Given the description of an element on the screen output the (x, y) to click on. 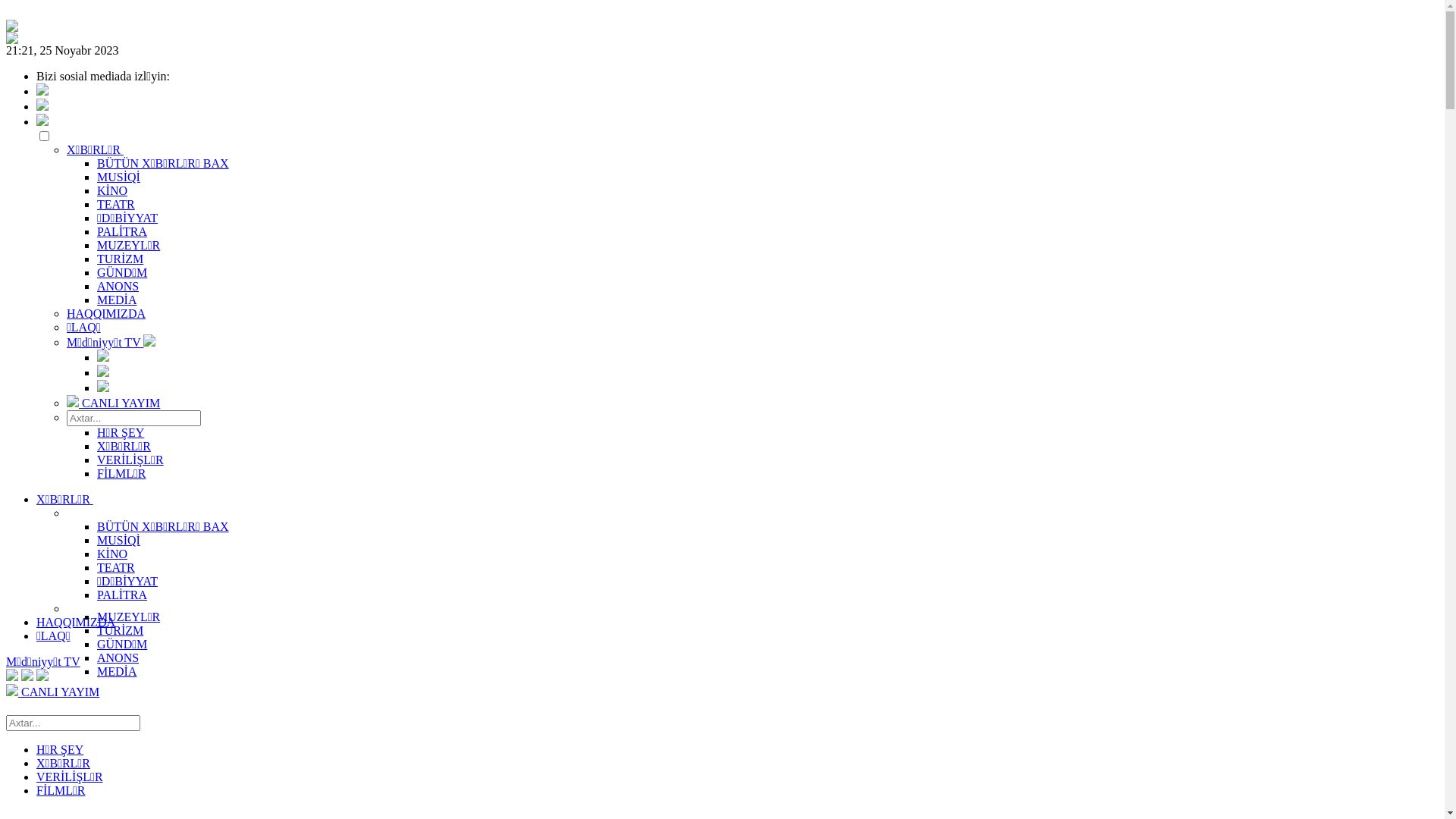
TEATR Element type: text (115, 203)
CANLI YAYIM Element type: text (52, 691)
CANLI YAYIM Element type: text (113, 402)
TEATR Element type: text (115, 567)
ANONS Element type: text (117, 285)
HAQQIMIZDA Element type: text (75, 621)
ANONS Element type: text (117, 657)
HAQQIMIZDA Element type: text (105, 313)
